Given the description of an element on the screen output the (x, y) to click on. 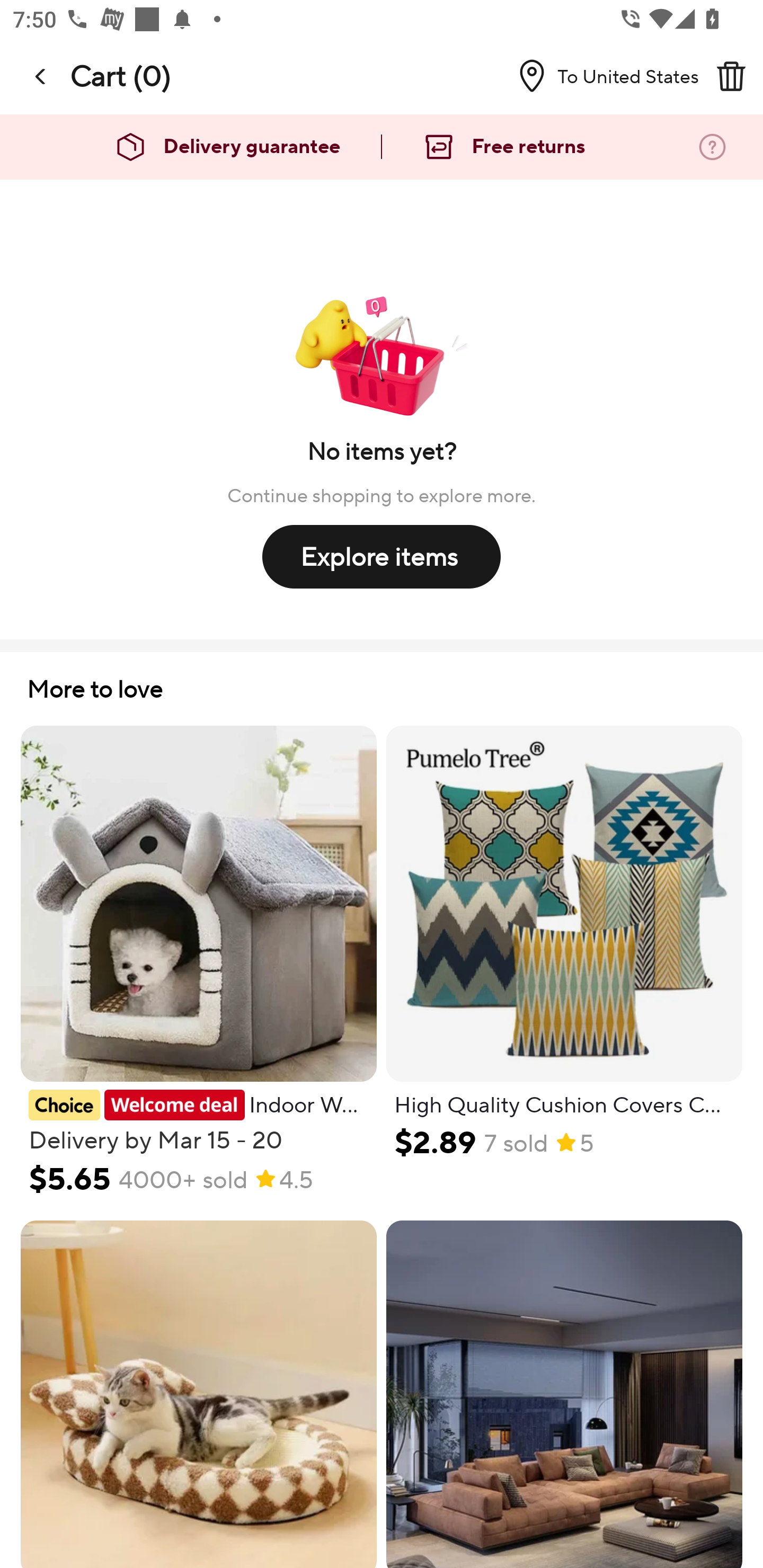
 (41, 76)
 To United States (601, 75)
 (730, 75)
Explore items  (381, 556)
